Given the description of an element on the screen output the (x, y) to click on. 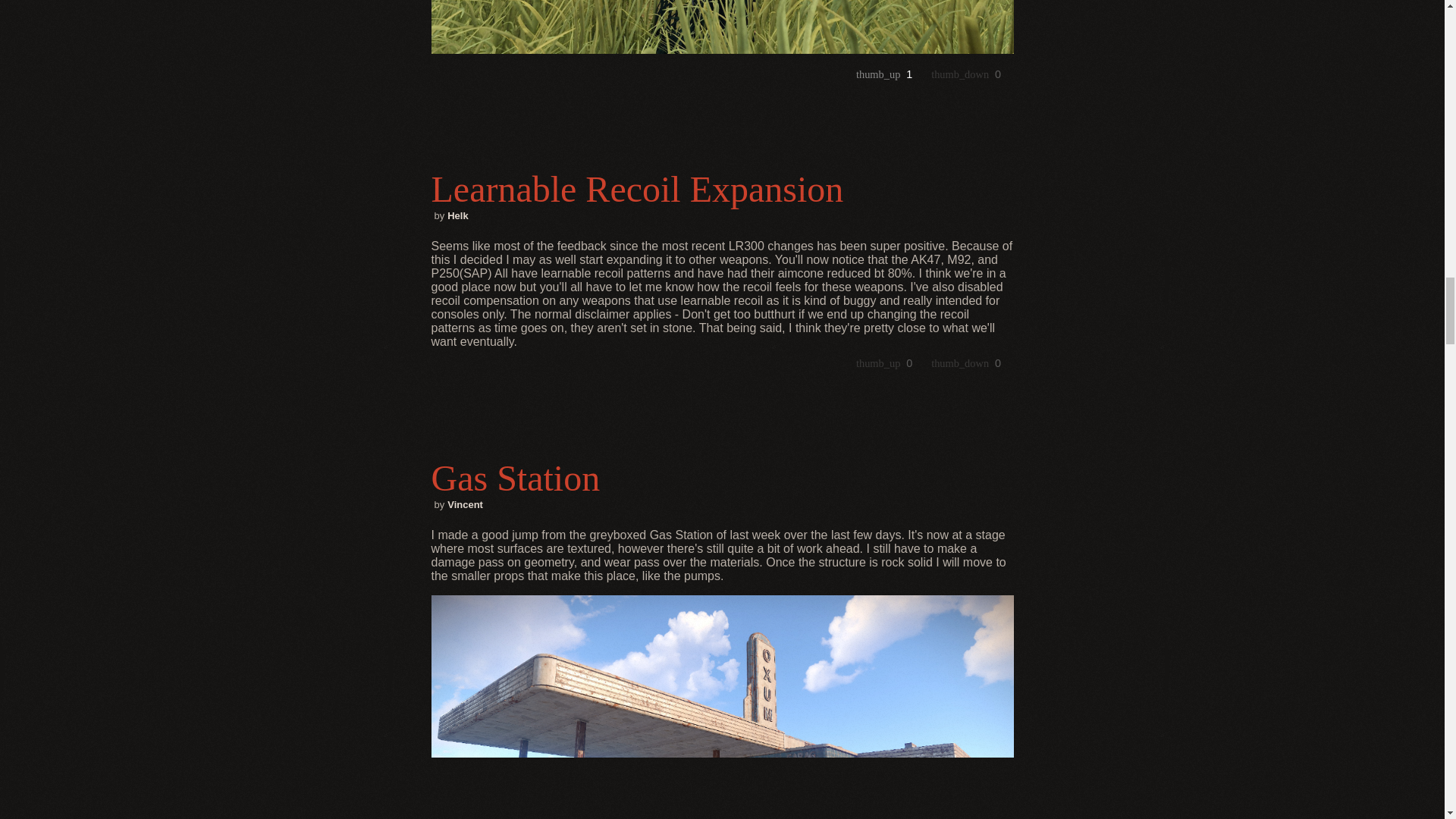
Helk (456, 215)
Vincent (464, 504)
Learnable Recoil Expansion (721, 188)
Gas Station (721, 477)
